Given the description of an element on the screen output the (x, y) to click on. 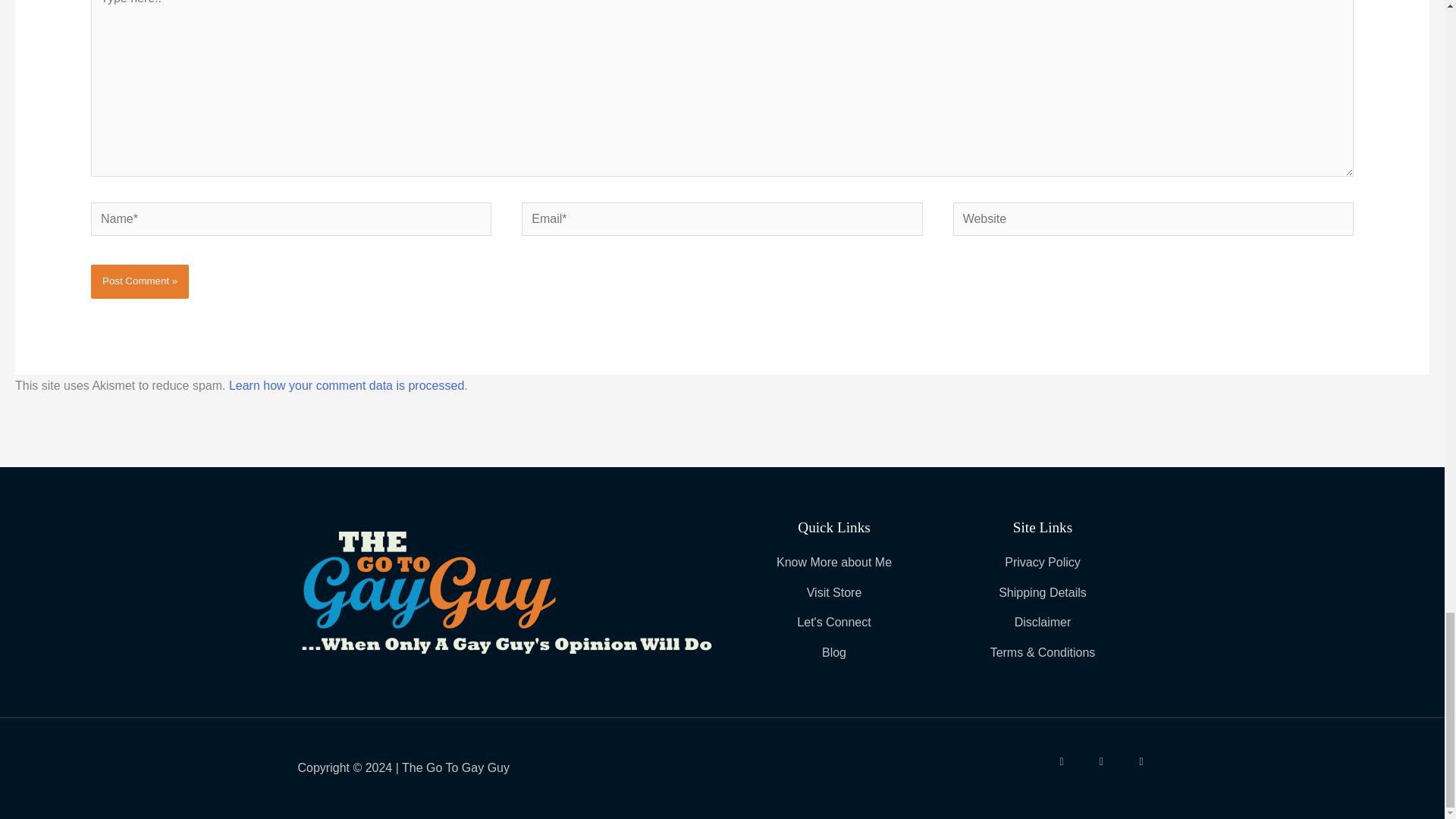
Know More about Me (833, 562)
Learn how your comment data is processed (346, 385)
Visit Store (833, 592)
